Given the description of an element on the screen output the (x, y) to click on. 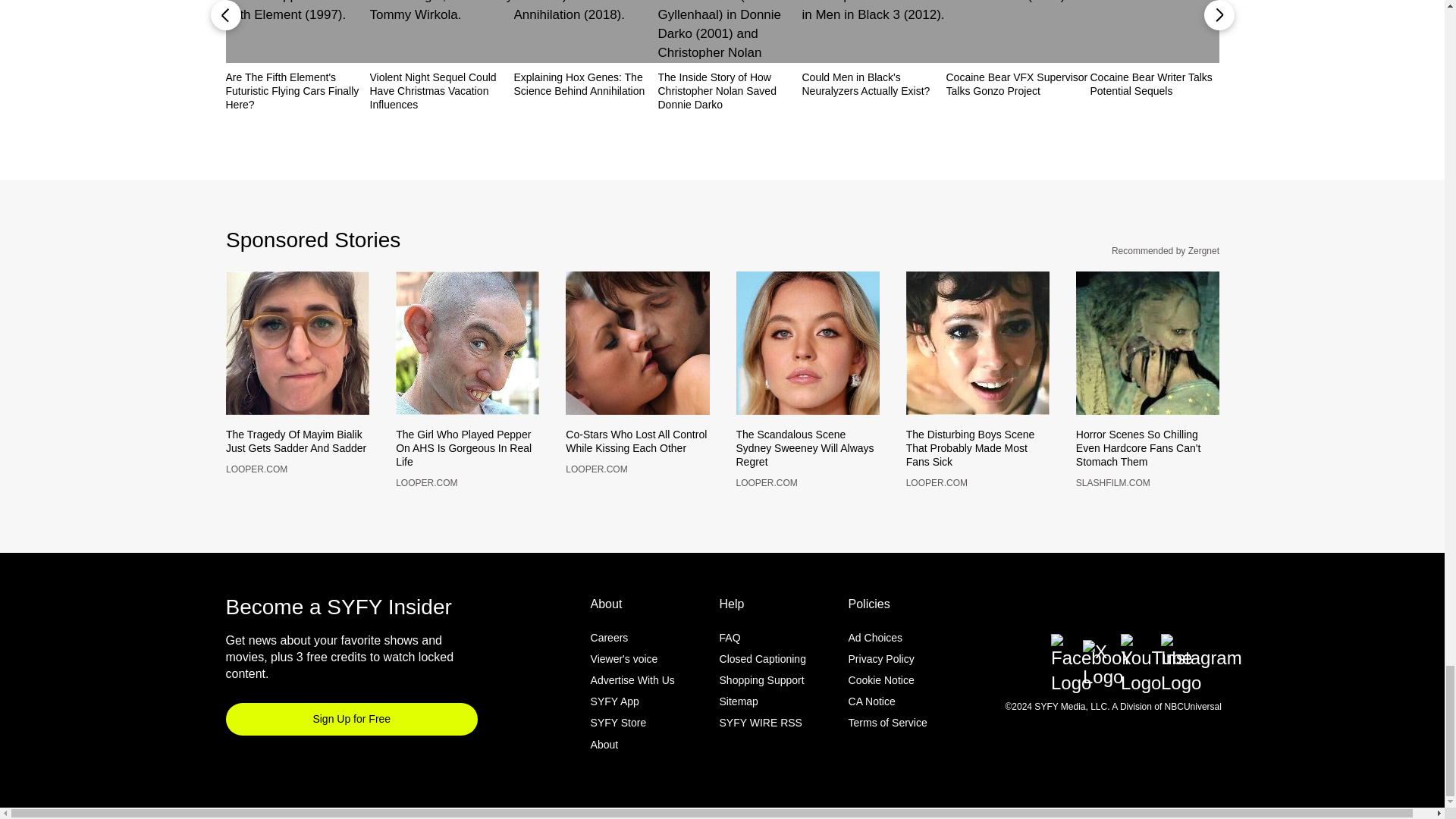
Are The Fifth Element's Futuristic Flying Cars Finally Here? (297, 90)
Advertise With Us (633, 705)
